Given the description of an element on the screen output the (x, y) to click on. 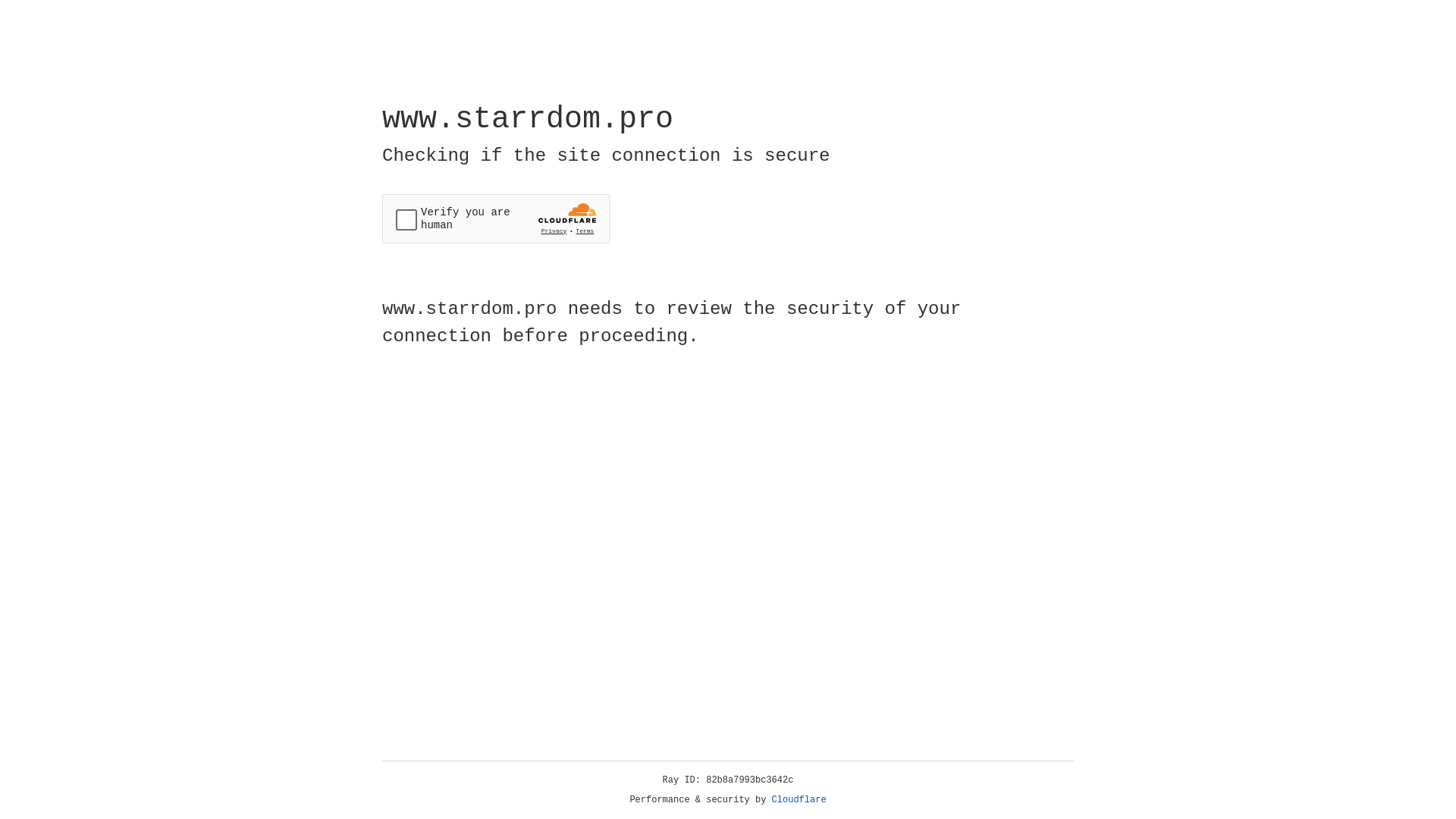
Widget containing a Cloudflare security challenge Element type: hover (495, 218)
Cloudflare Element type: text (798, 799)
